Given the description of an element on the screen output the (x, y) to click on. 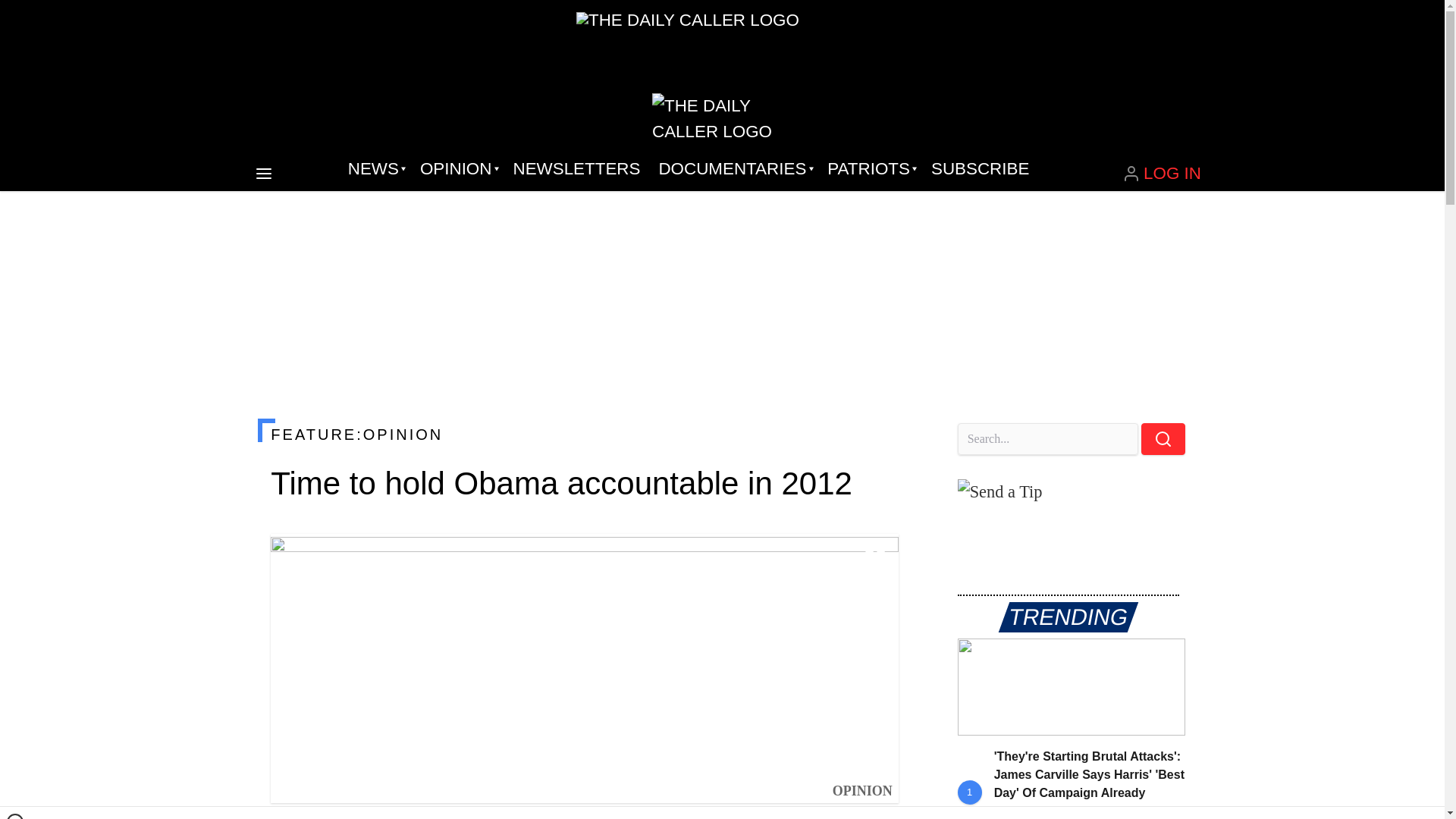
Toggle fullscreen (874, 557)
FEATURE:OPINION (584, 434)
DOCUMENTARIES (733, 168)
NEWSLETTERS (576, 168)
OPINION (456, 168)
SUBSCRIBE (979, 168)
NEWS (374, 168)
Close window (14, 816)
PATRIOTS (869, 168)
